Given the description of an element on the screen output the (x, y) to click on. 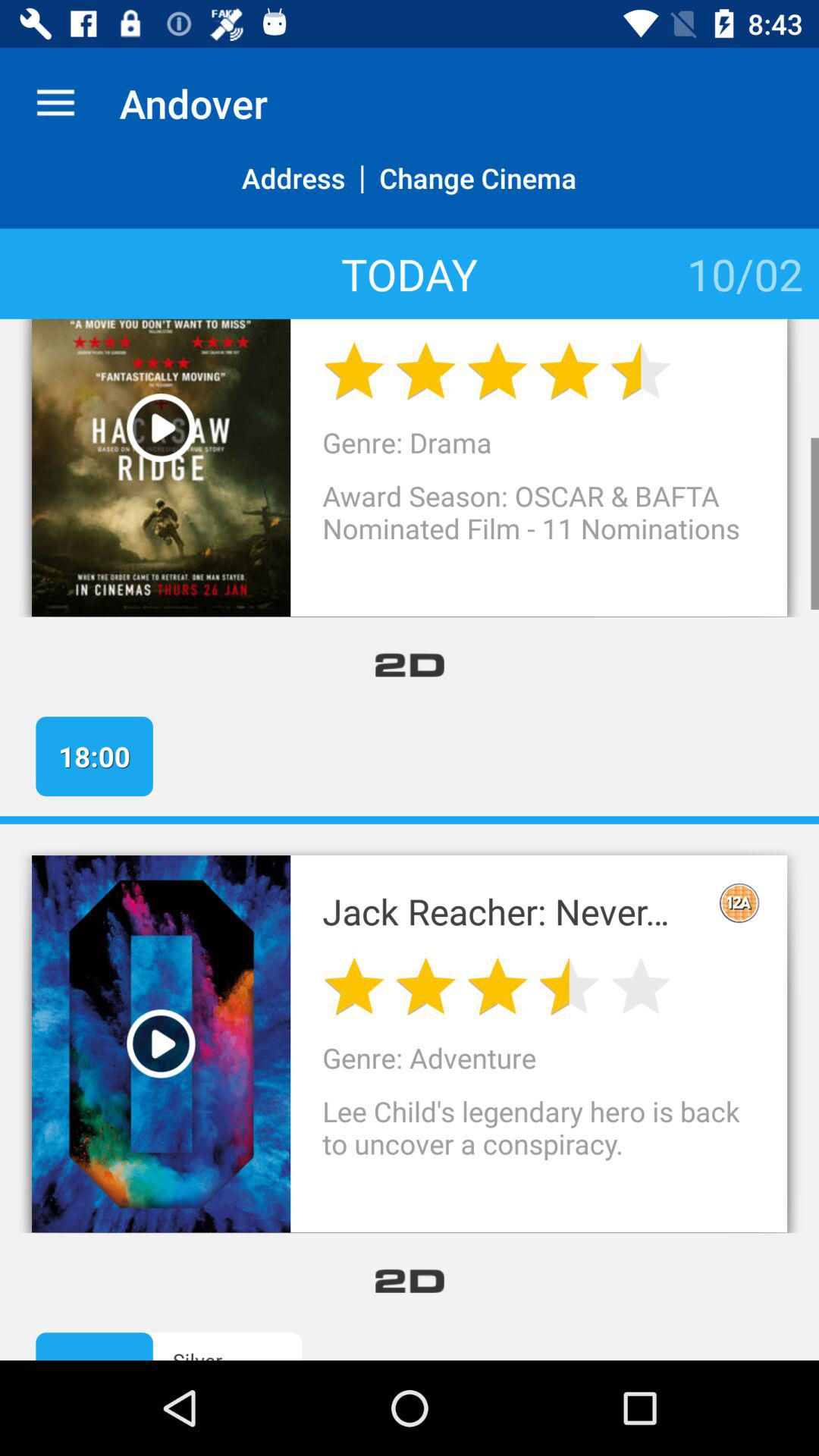
play the movie (160, 427)
